Given the description of an element on the screen output the (x, y) to click on. 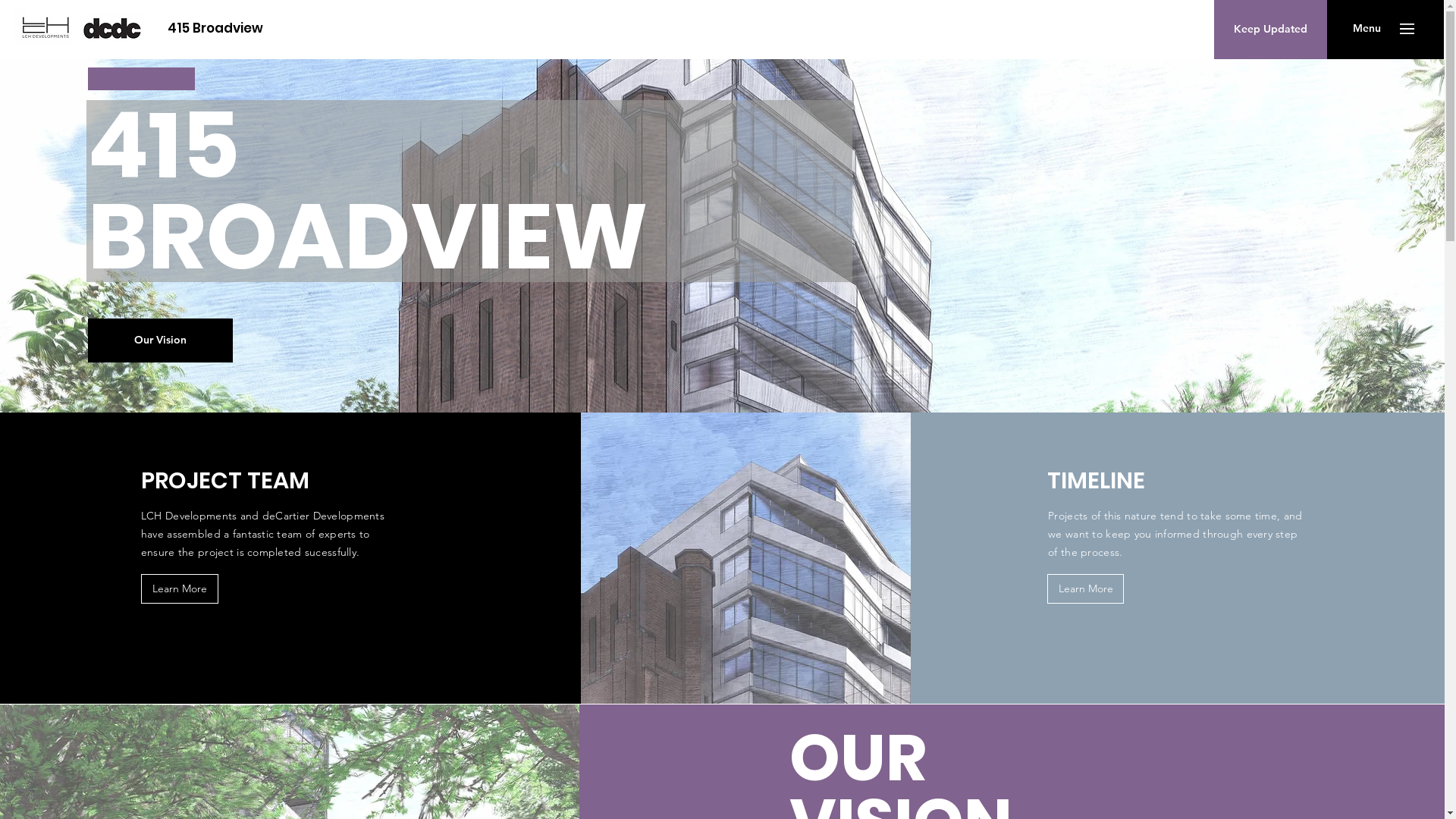
Menu Element type: text (1366, 28)
415 Broadview Element type: text (214, 28)
Learn More Element type: text (1085, 588)
Our Vision Element type: text (159, 340)
Keep Updated Element type: text (1270, 29)
Learn More Element type: text (179, 588)
